Given the description of an element on the screen output the (x, y) to click on. 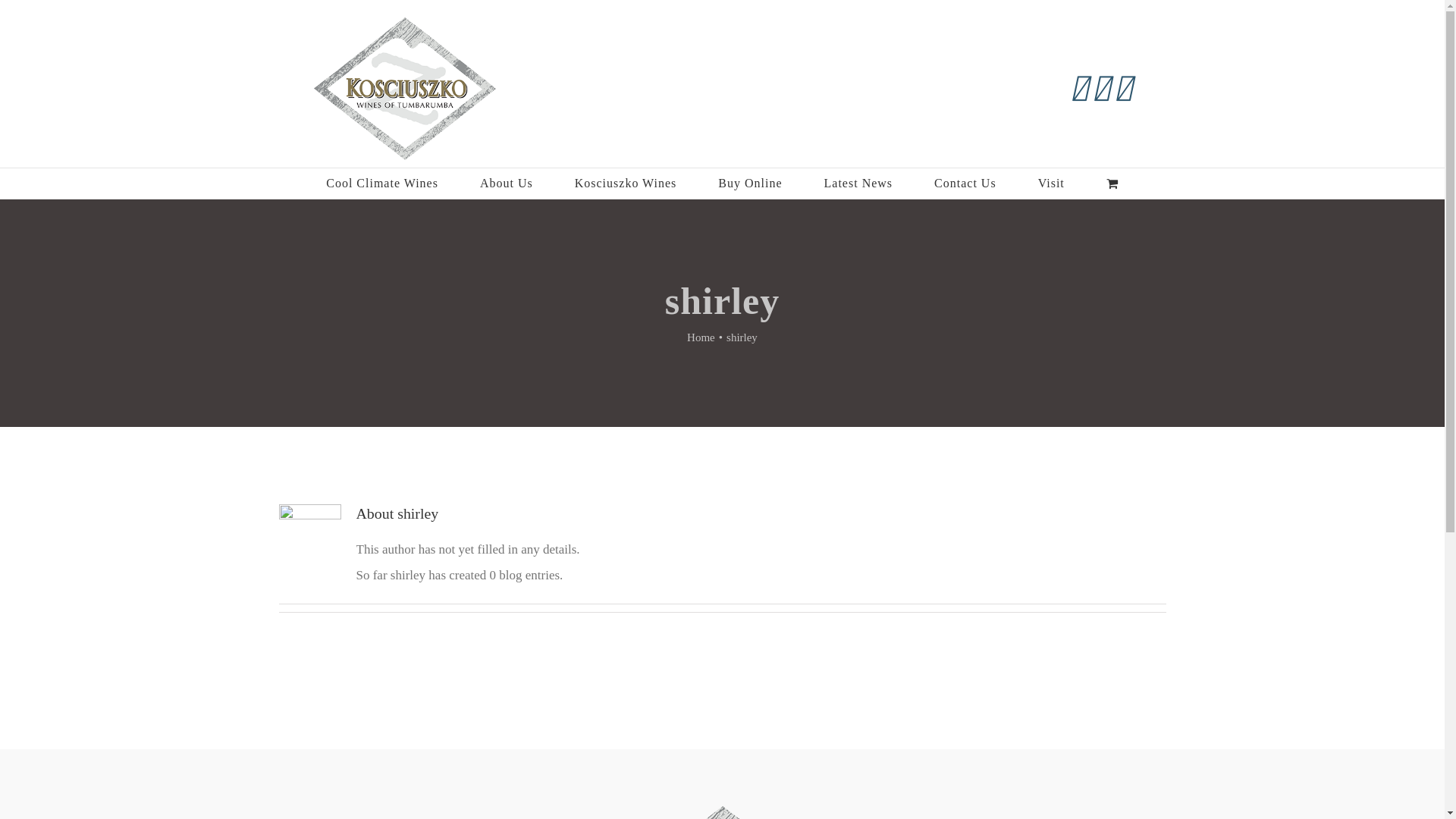
Latest News Element type: text (858, 183)
Cool Climate Wines Element type: text (381, 183)
Contact Us Element type: text (964, 183)
Kosciuszko Wines Element type: text (625, 183)
Visit Element type: text (1051, 183)
About Us Element type: text (506, 183)
Buy Online Element type: text (749, 183)
Home Element type: text (701, 337)
